Given the description of an element on the screen output the (x, y) to click on. 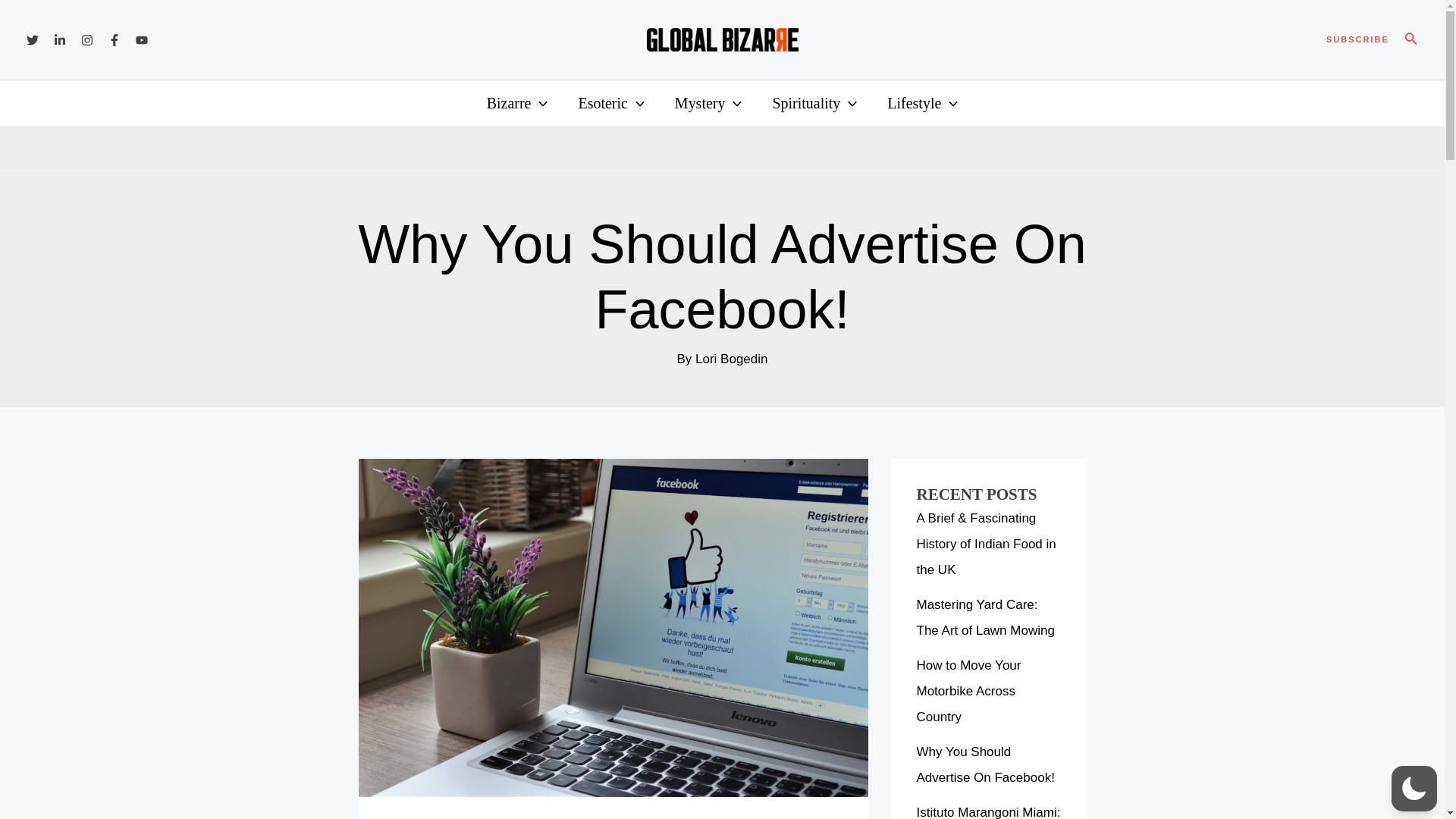
Esoteric (610, 102)
View all posts by Lori Bogedin (731, 359)
Bizarre (517, 102)
Mystery (708, 102)
Spirituality (814, 102)
Lori Bogedin (731, 359)
SUBSCRIBE (1357, 40)
Lifestyle (922, 102)
